Given the description of an element on the screen output the (x, y) to click on. 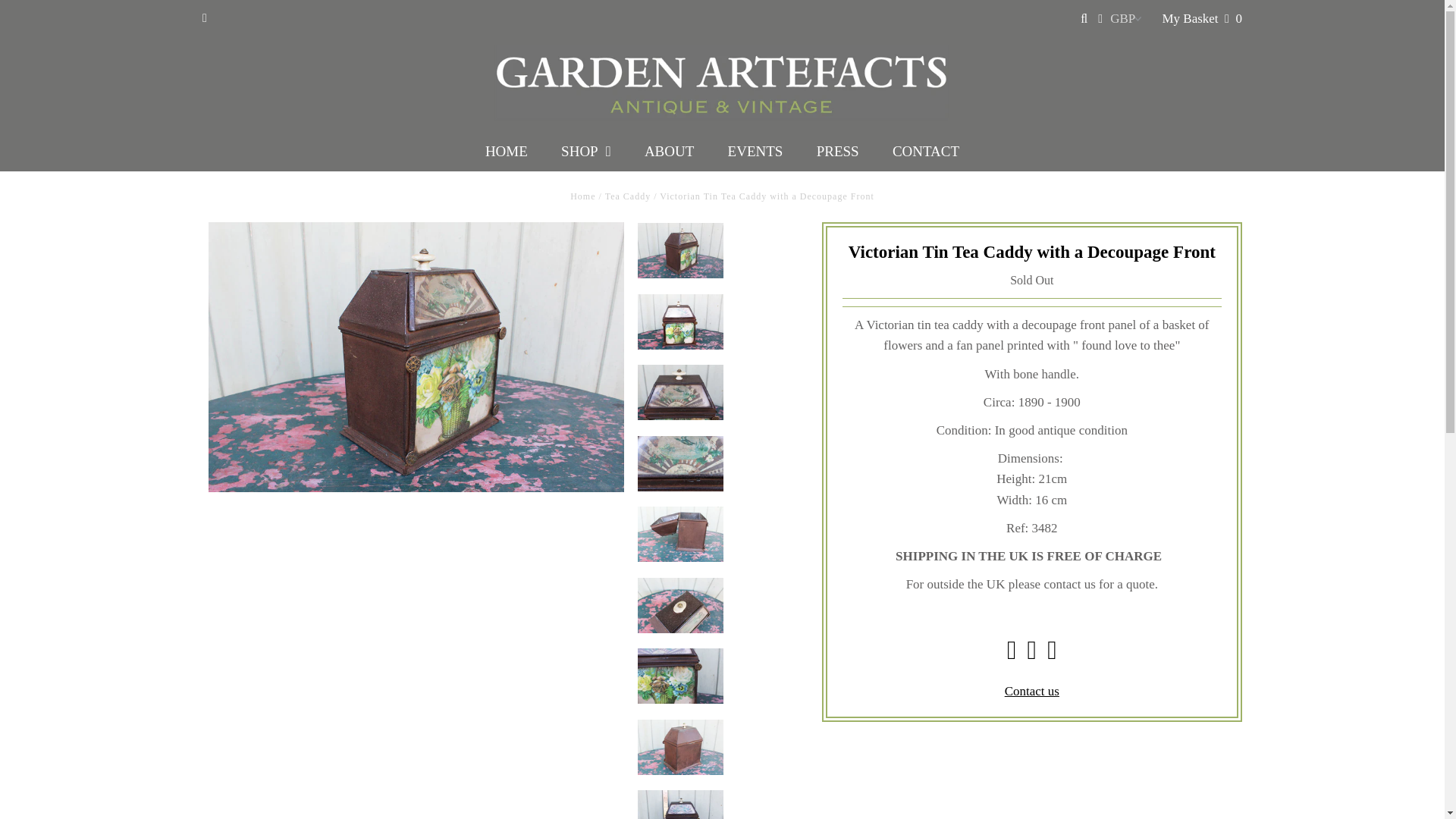
SHOP (586, 151)
EVENTS (755, 151)
PRESS (838, 151)
My Basket    0 (1201, 18)
Victorian Tin Tea Caddy with a Decoupage Front (416, 356)
Tea Caddy (627, 195)
HOME (506, 151)
ABOUT (668, 151)
Tea Caddy (627, 195)
Home (582, 195)
CONTACT (925, 151)
Contact us (1031, 690)
Home (582, 195)
